Given the description of an element on the screen output the (x, y) to click on. 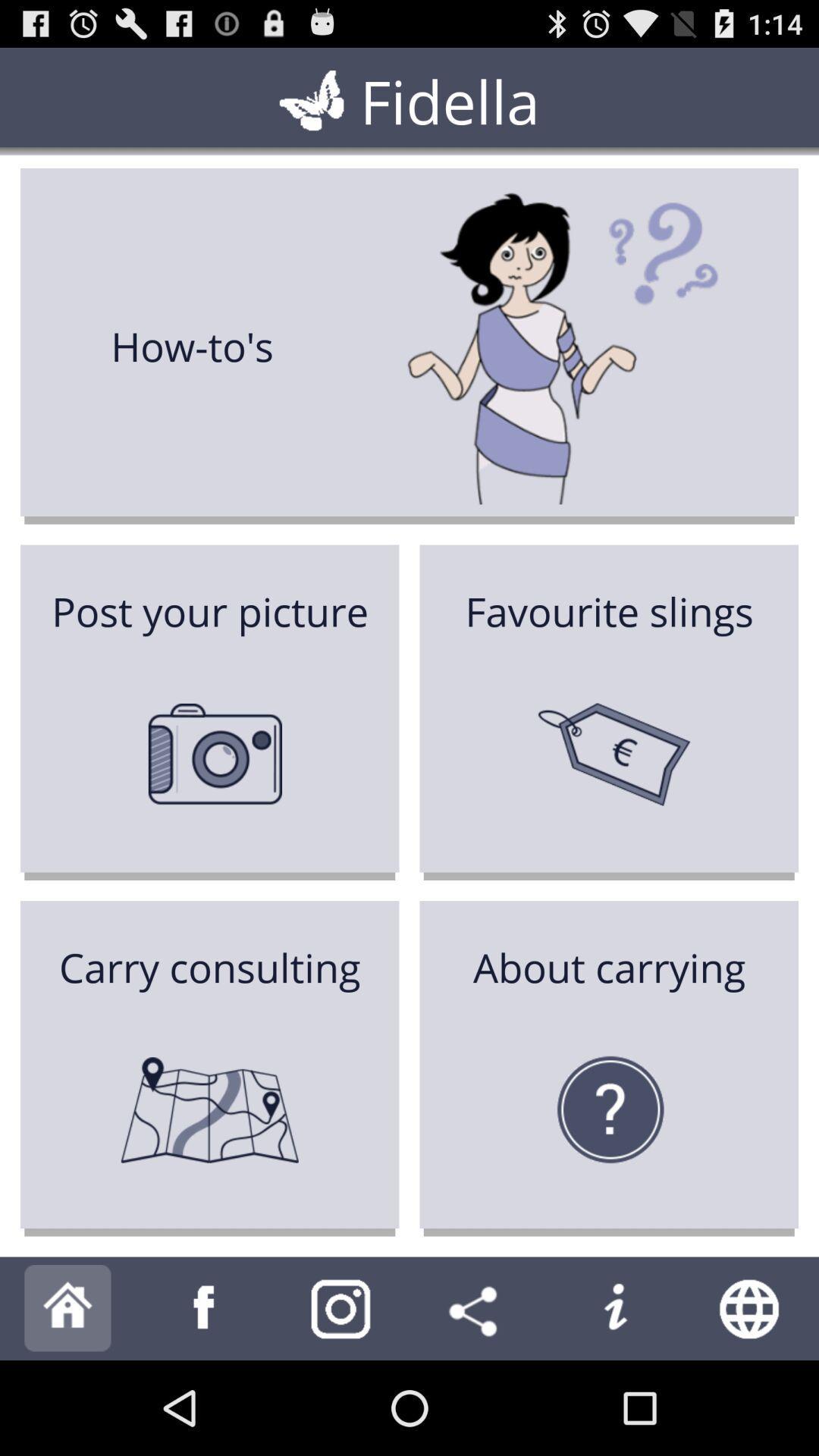
go home (68, 1308)
